Given the description of an element on the screen output the (x, y) to click on. 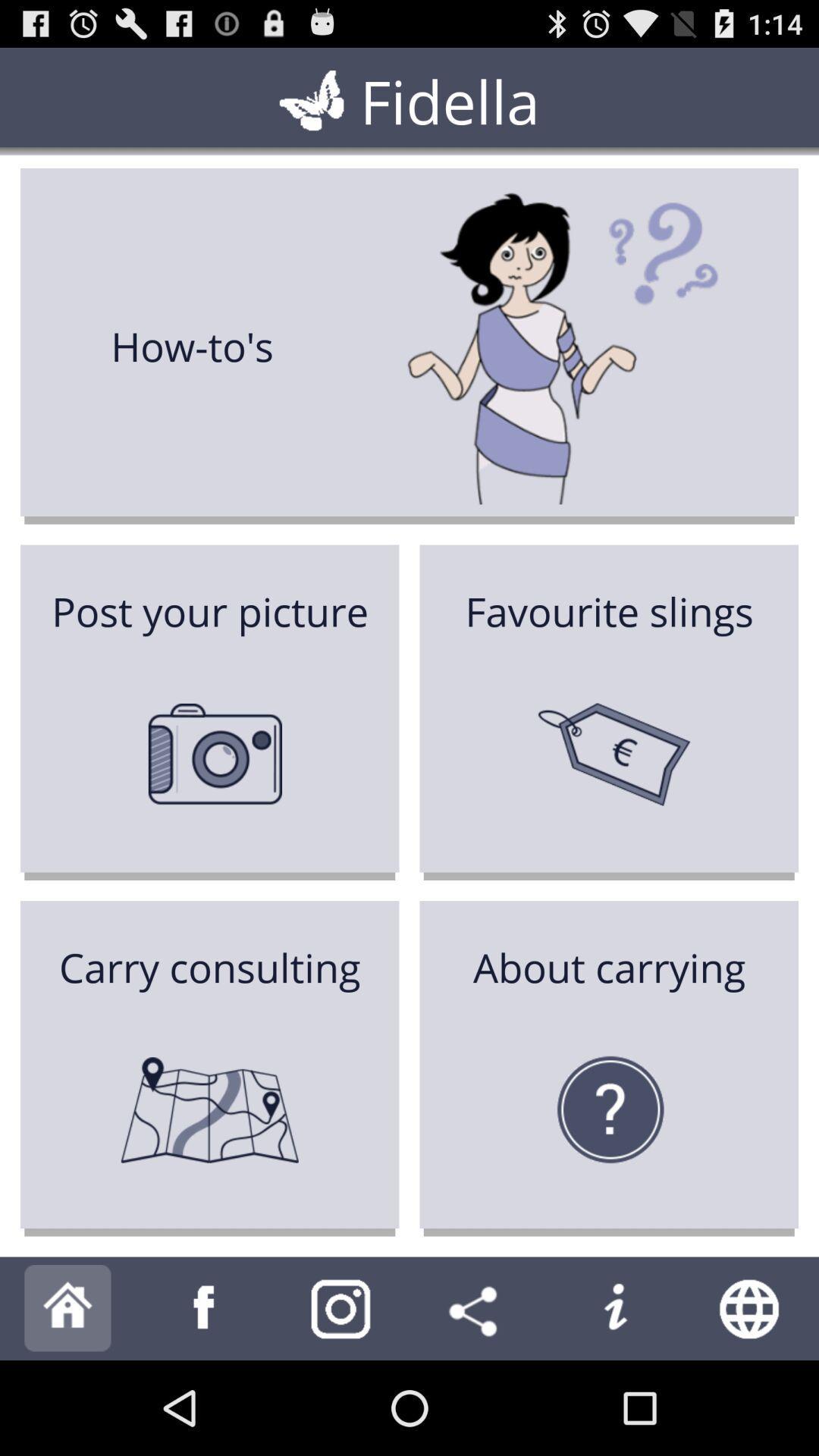
go home (68, 1308)
